Given the description of an element on the screen output the (x, y) to click on. 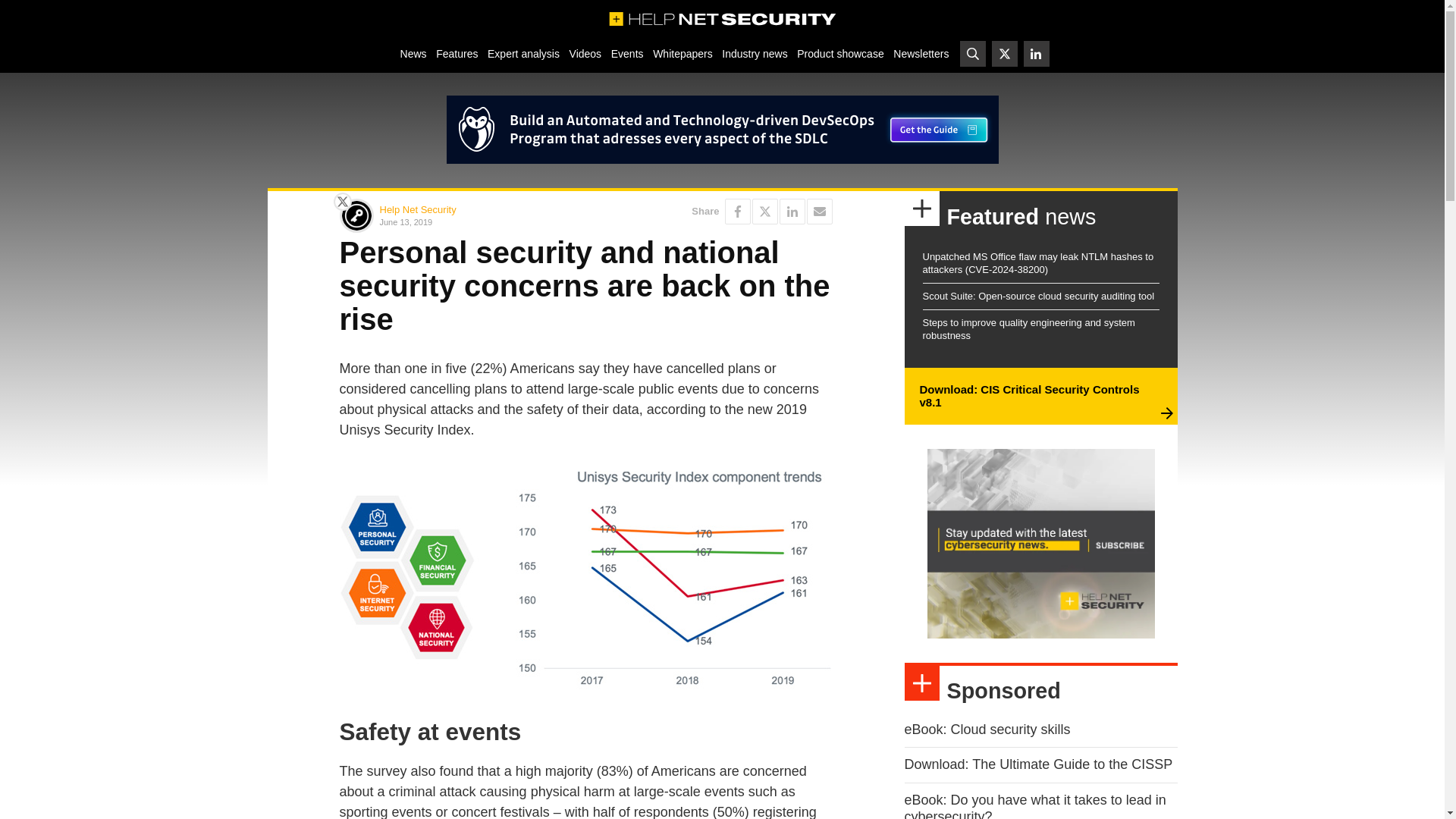
Trends (585, 578)
News (412, 53)
Videos (584, 53)
eBook: Cloud security skills (987, 729)
Industry news (754, 53)
Steps to improve quality engineering and system robustness (1027, 328)
Product showcase (840, 53)
